Given the description of an element on the screen output the (x, y) to click on. 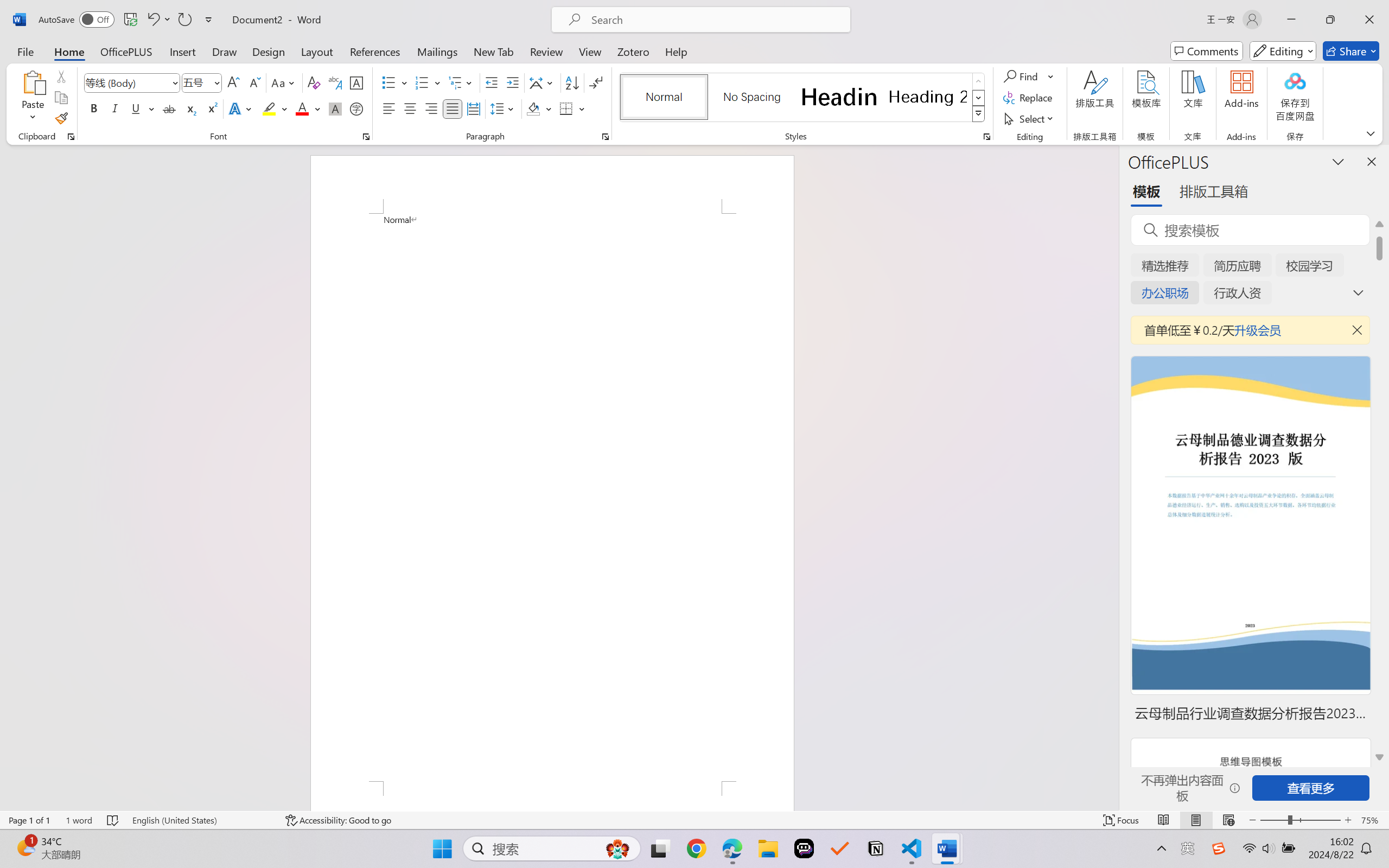
Language English (United States) (201, 819)
Distributed (473, 108)
Format Painter (60, 118)
Bullets (388, 82)
Repeat Style (184, 19)
Shading RGB(0, 0, 0) (533, 108)
Zoom In (1348, 819)
Row Down (978, 97)
Increase Indent (512, 82)
Focus  (1121, 819)
Decrease Indent (491, 82)
Minimize (1291, 19)
Font (126, 82)
